Given the description of an element on the screen output the (x, y) to click on. 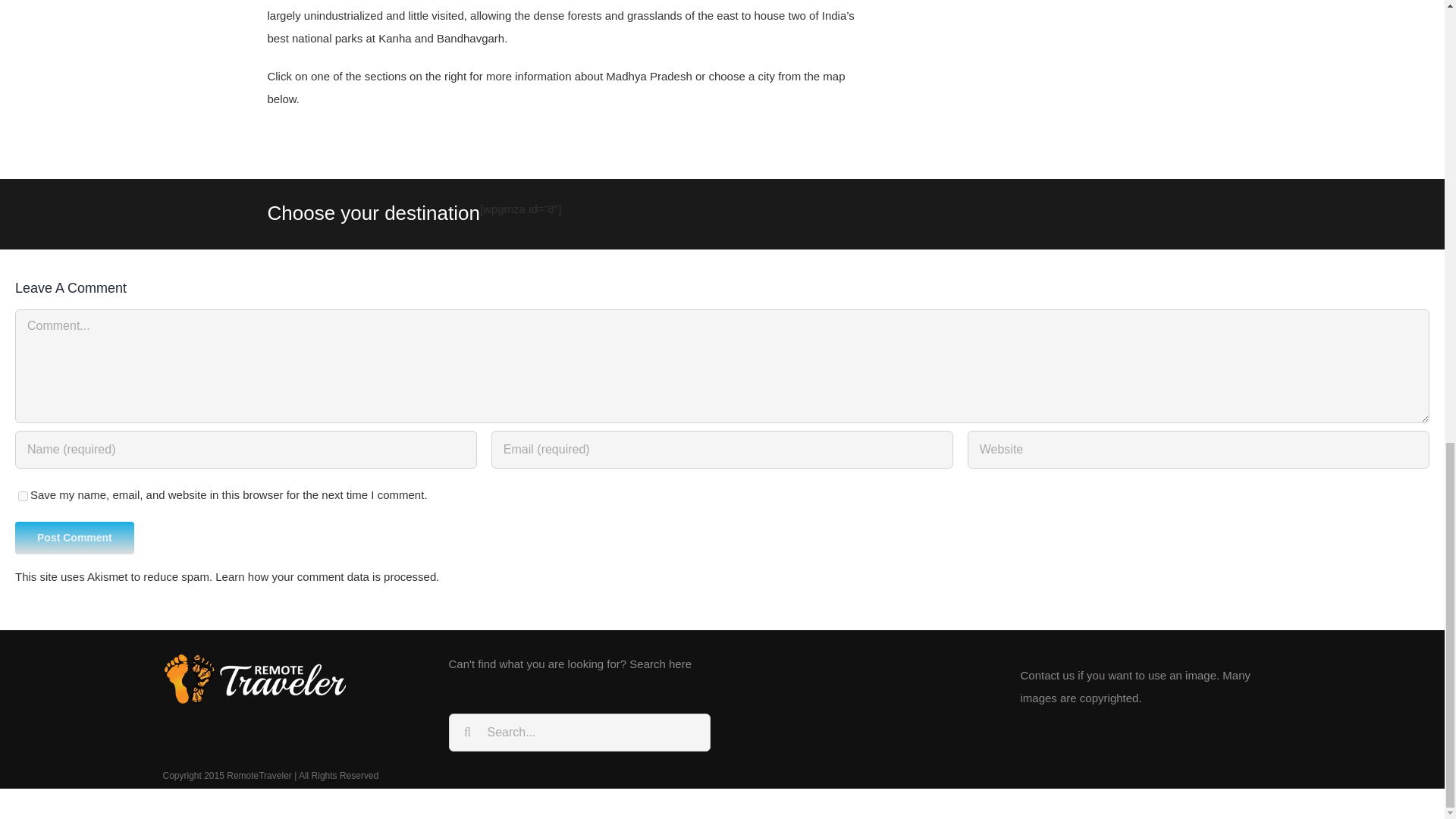
Post Comment (73, 537)
yes (22, 496)
